Given the description of an element on the screen output the (x, y) to click on. 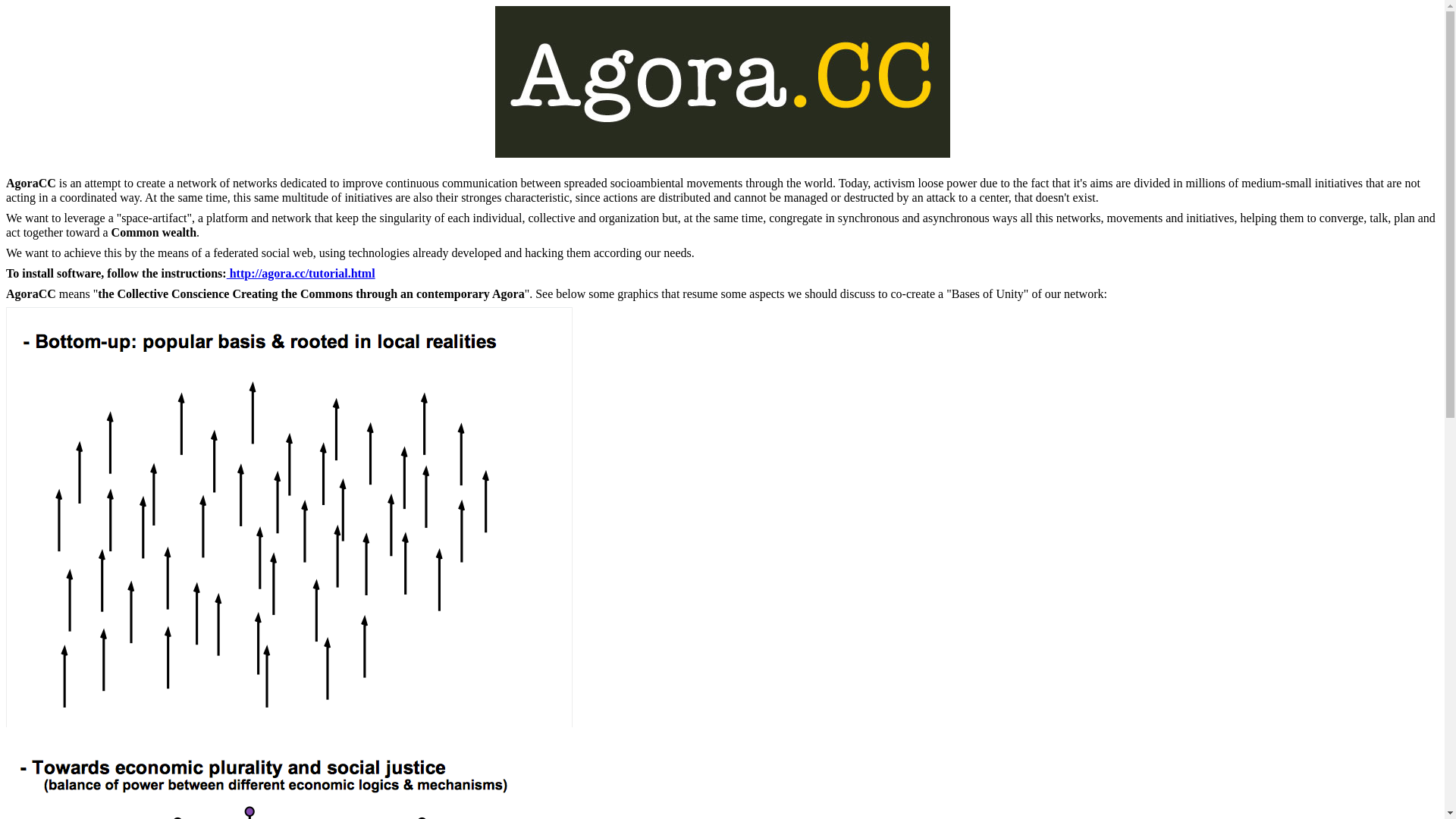
http://agora.cc/tutorial.html Element type: text (300, 272)
